Given the description of an element on the screen output the (x, y) to click on. 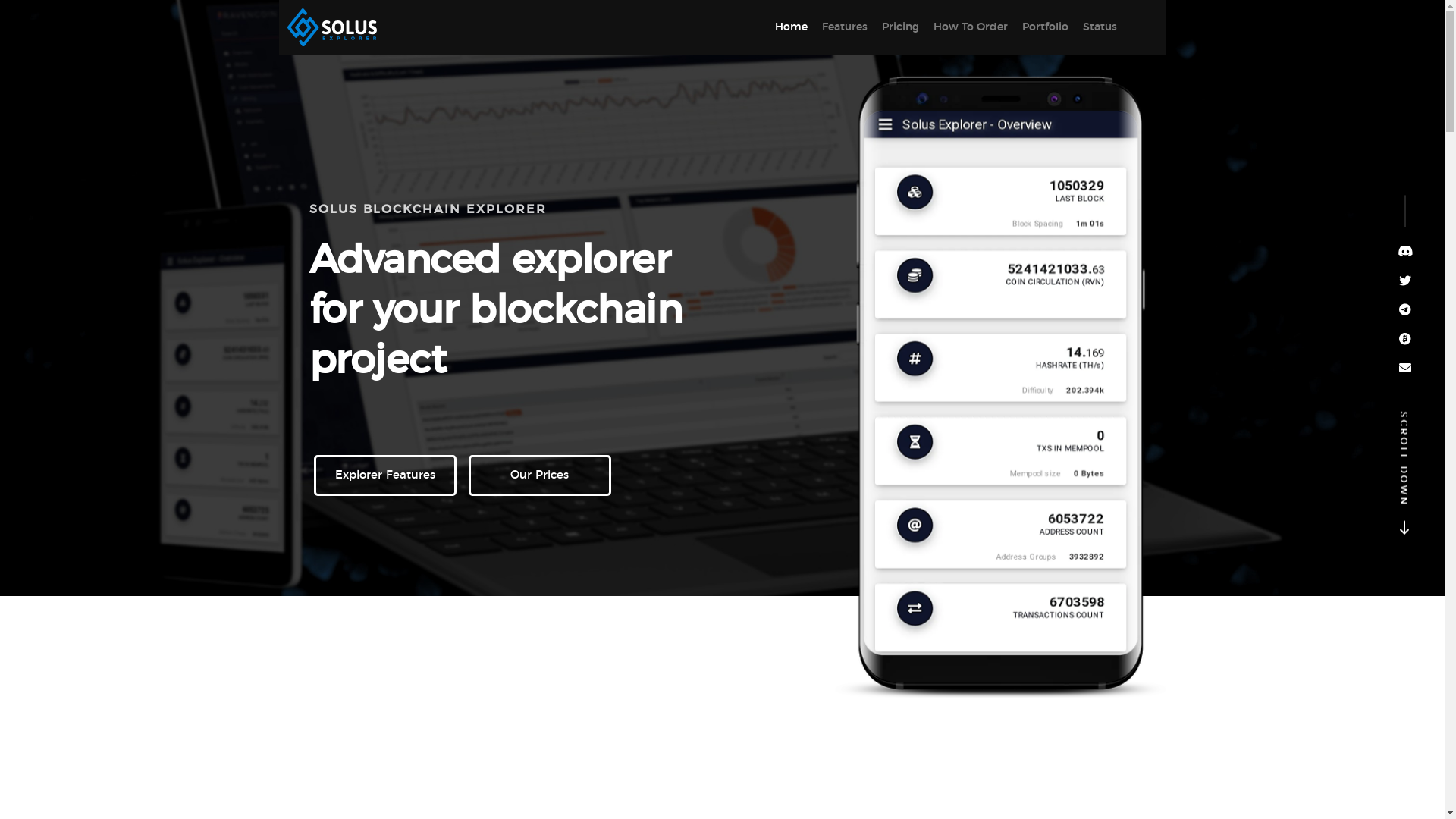
Explorer Features Element type: text (384, 475)
Solus Explorer Element type: text (335, 27)
Pricing Element type: text (899, 27)
How To Order Element type: text (969, 27)
Status Element type: text (1099, 27)
Portfolio Element type: text (1045, 27)
Visit our topic on BitcoinTalk Element type: hover (1405, 337)
Follow us in Twitter Element type: hover (1405, 279)
Chat with us in Telegram Element type: hover (1405, 308)
Join our Discord server Element type: hover (1404, 249)
Our Prices Element type: text (539, 475)
Features Element type: text (844, 27)
Send us an e-mail Element type: hover (1405, 366)
Home Element type: text (791, 27)
